Given the description of an element on the screen output the (x, y) to click on. 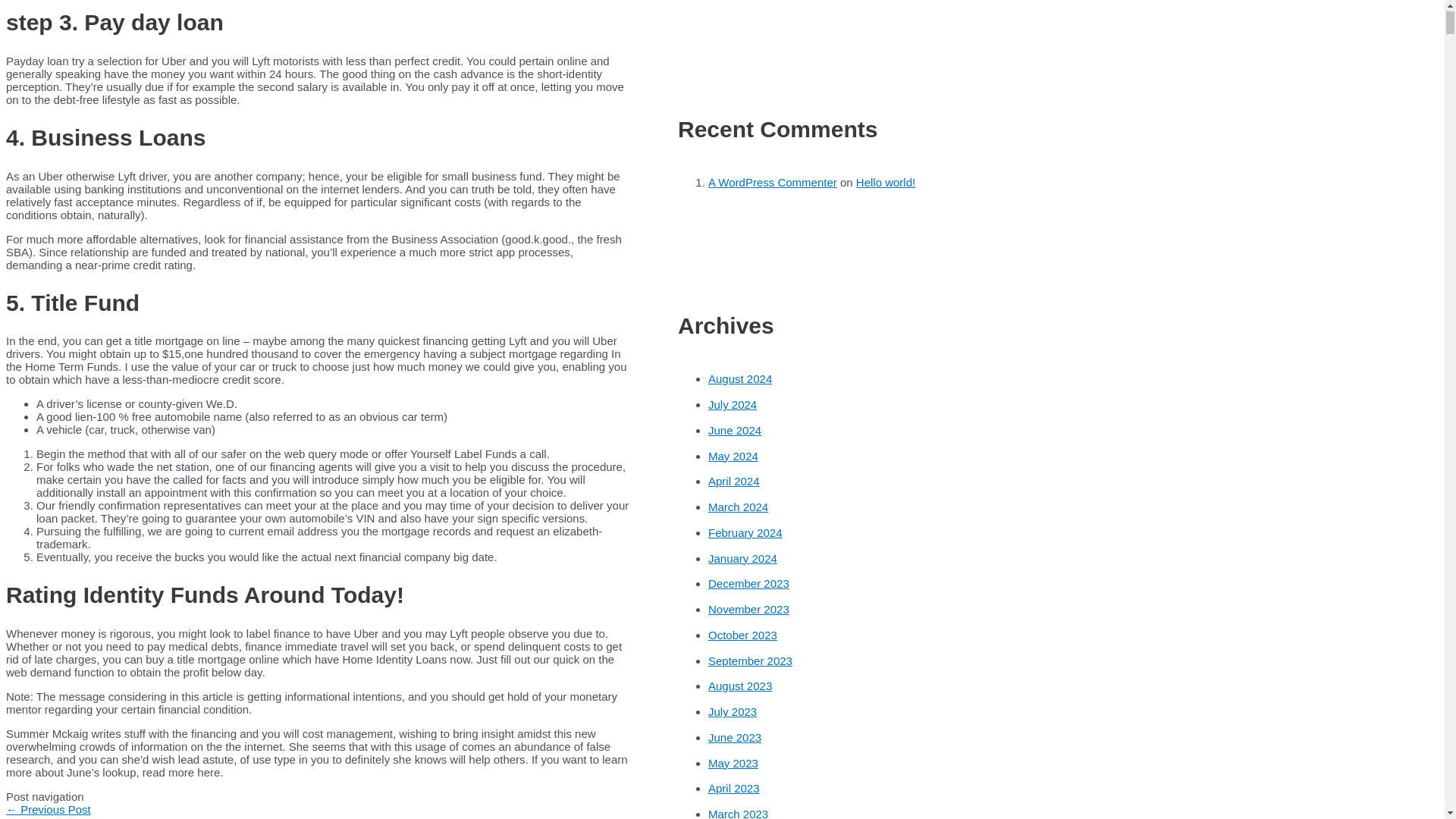
December 2023 (748, 583)
January 2024 (742, 558)
February 2024 (745, 532)
Hello world! (885, 182)
July 2024 (732, 404)
April 2024 (733, 481)
A WordPress Commenter (772, 182)
March 2024 (737, 506)
May 2024 (732, 455)
August 2024 (739, 378)
